Given the description of an element on the screen output the (x, y) to click on. 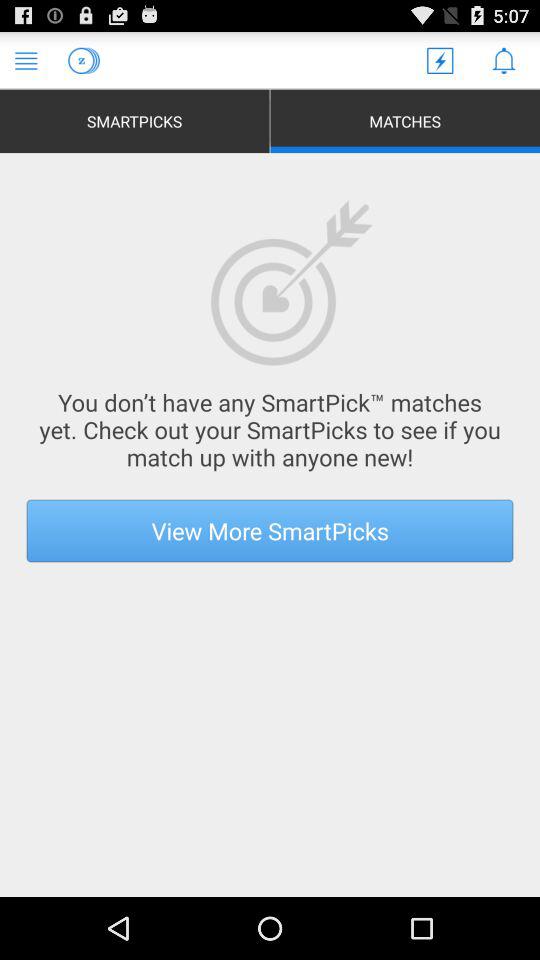
access menu (26, 60)
